Given the description of an element on the screen output the (x, y) to click on. 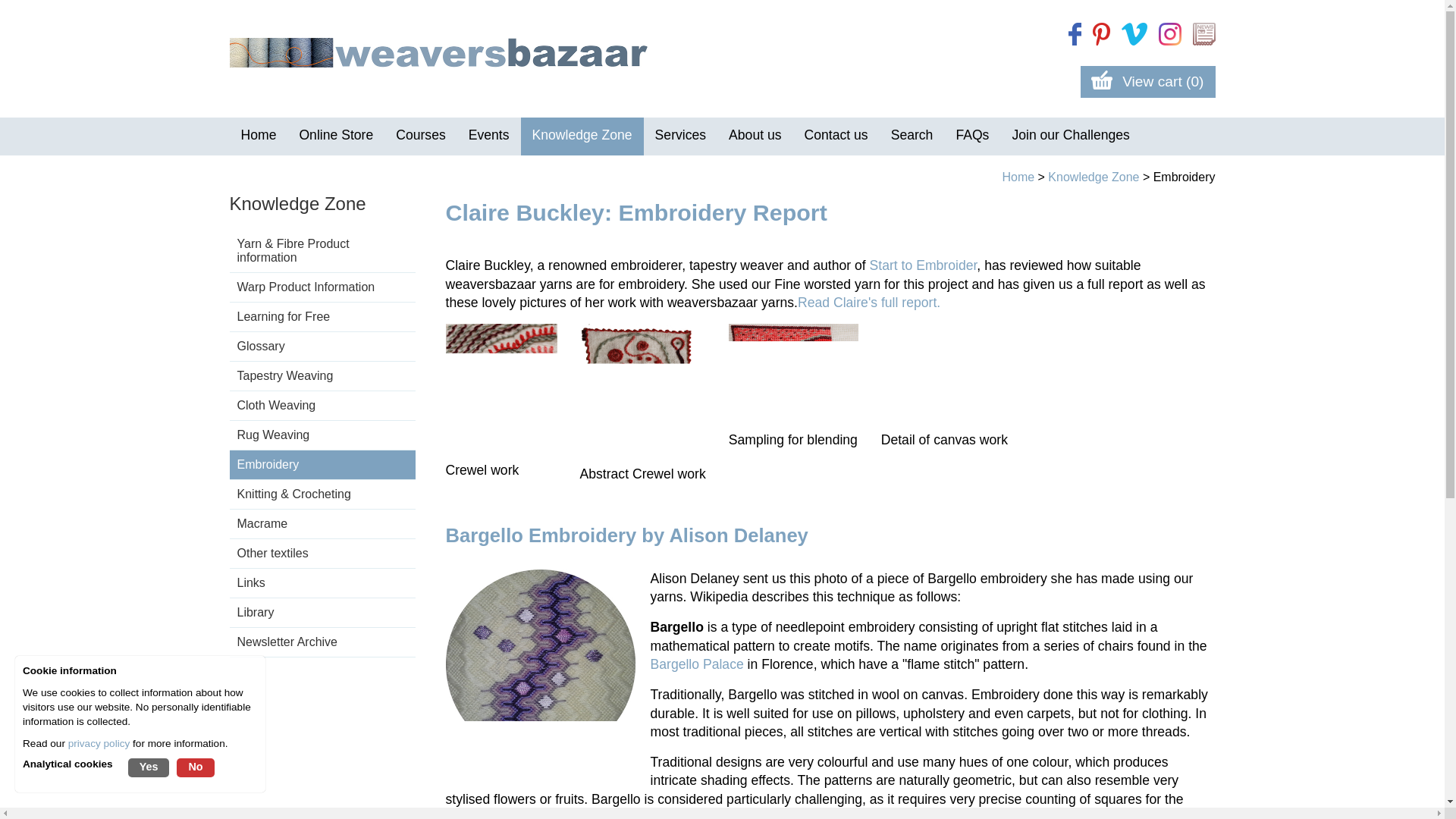
Home (257, 136)
Home (257, 136)
Online Store (335, 136)
